Given the description of an element on the screen output the (x, y) to click on. 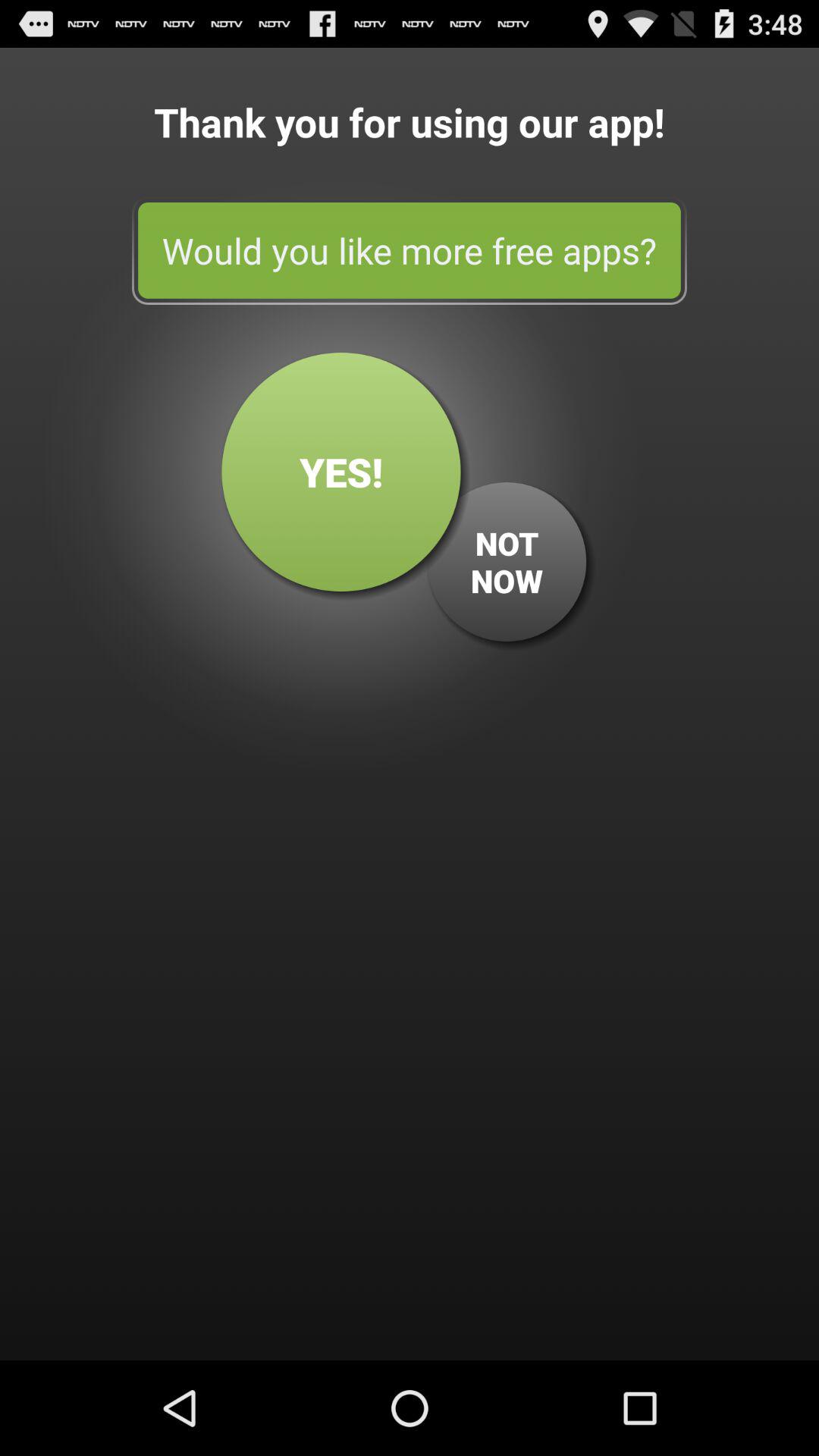
click the item below would you like app (506, 561)
